Given the description of an element on the screen output the (x, y) to click on. 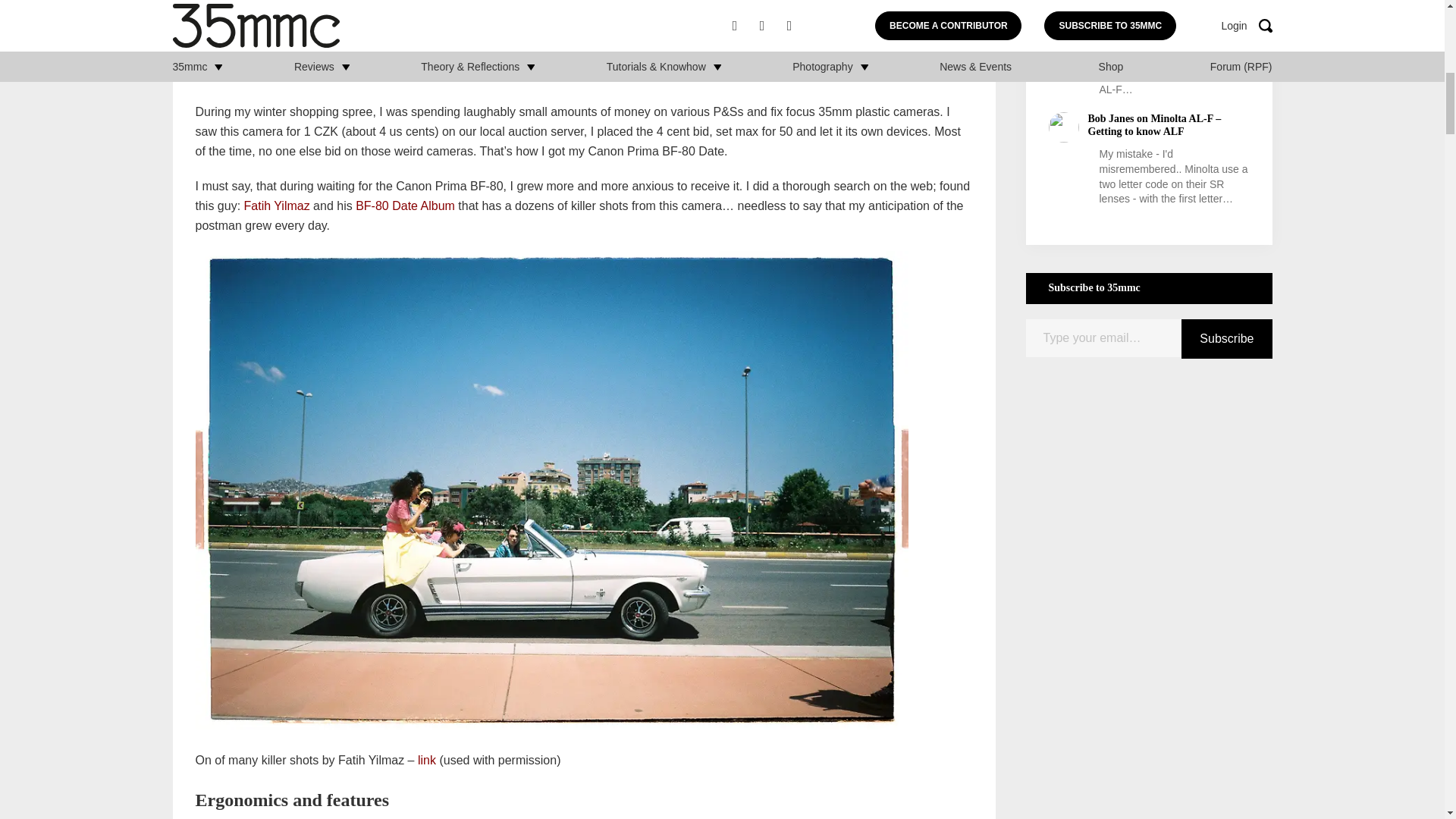
Please fill in this field. (1102, 338)
